Given the description of an element on the screen output the (x, y) to click on. 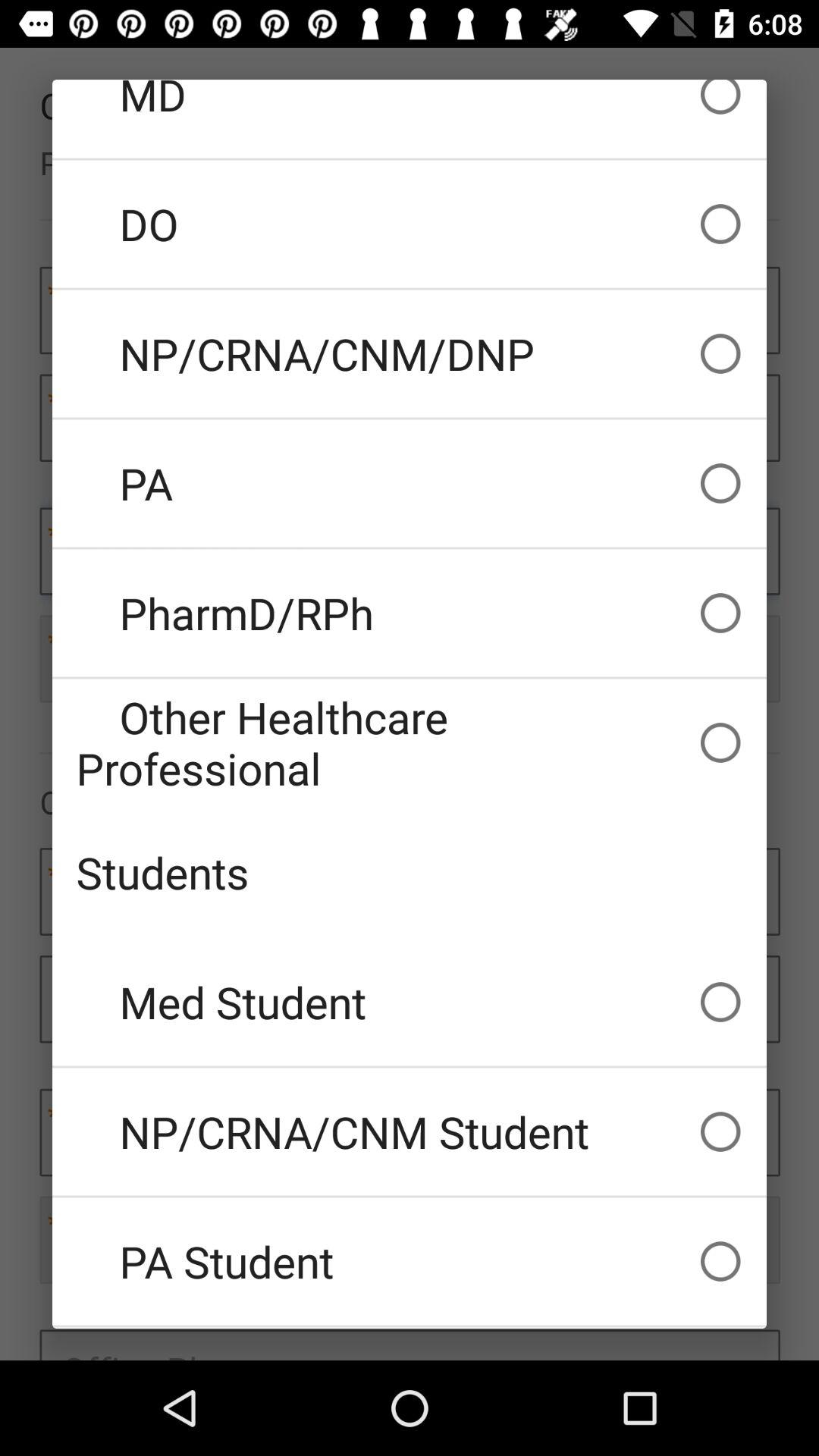
flip until the     pharmd/rph (409, 612)
